Given the description of an element on the screen output the (x, y) to click on. 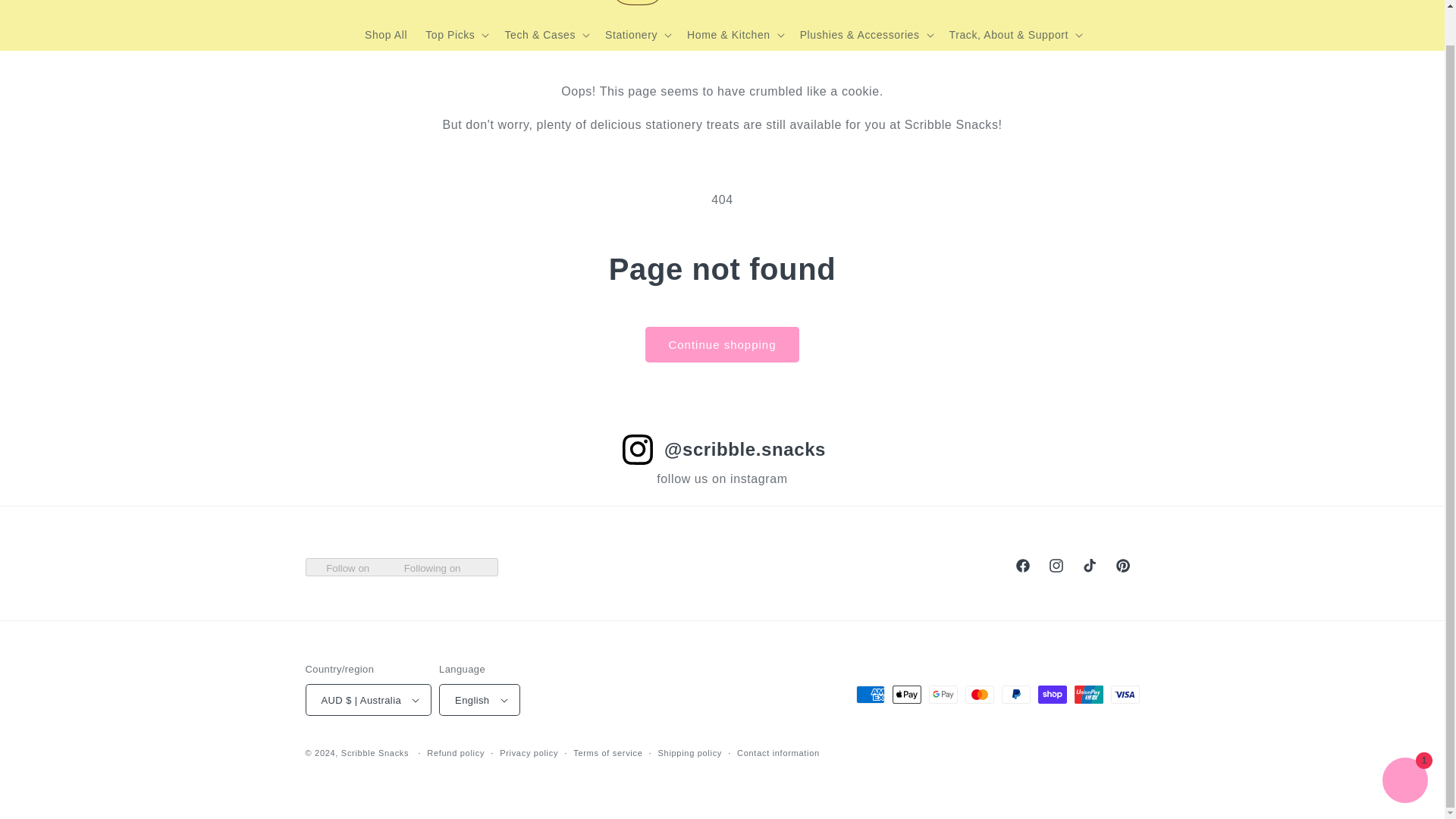
Shopify online store chat (1404, 745)
